Given the description of an element on the screen output the (x, y) to click on. 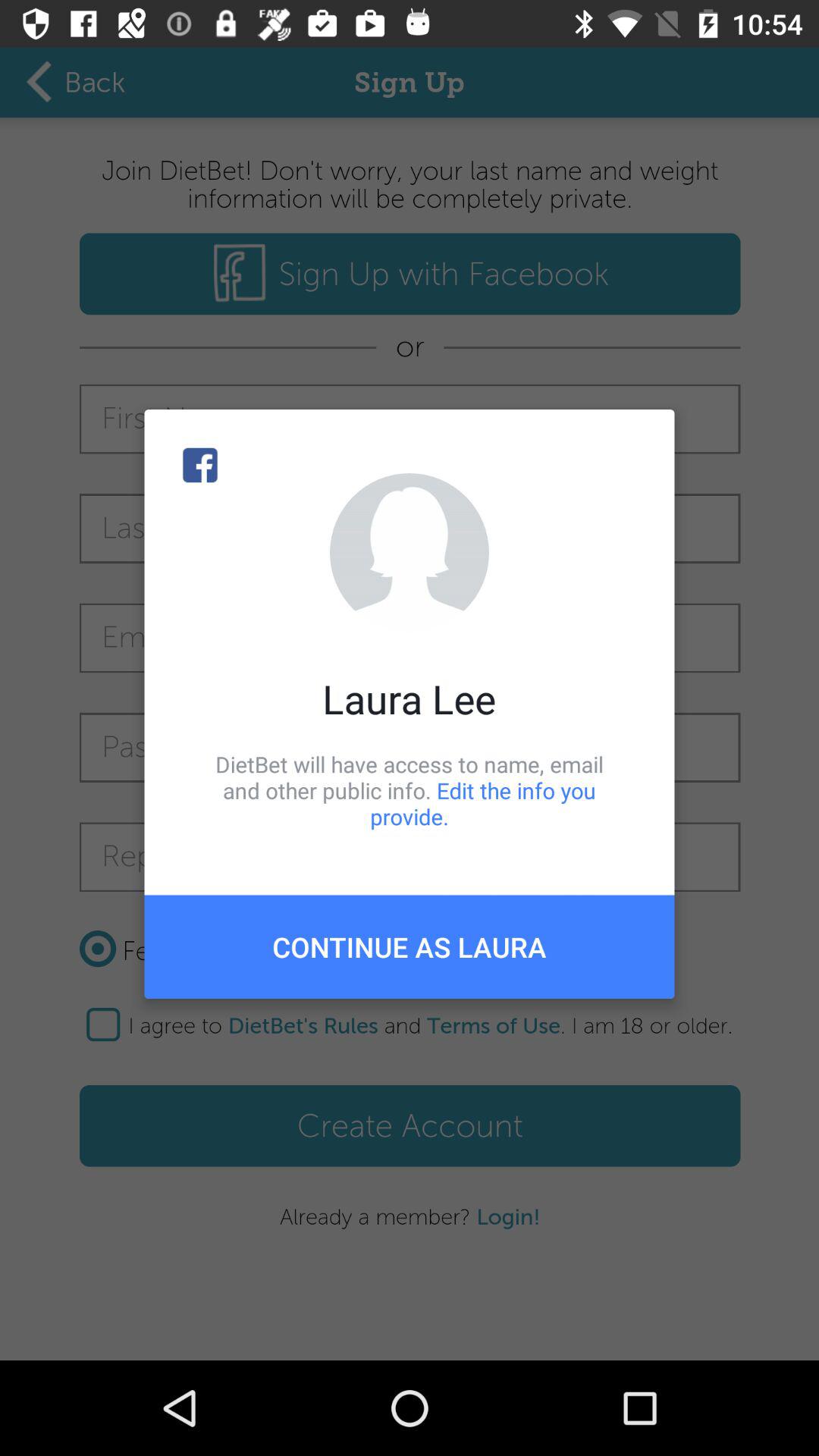
tap the continue as laura (409, 946)
